Given the description of an element on the screen output the (x, y) to click on. 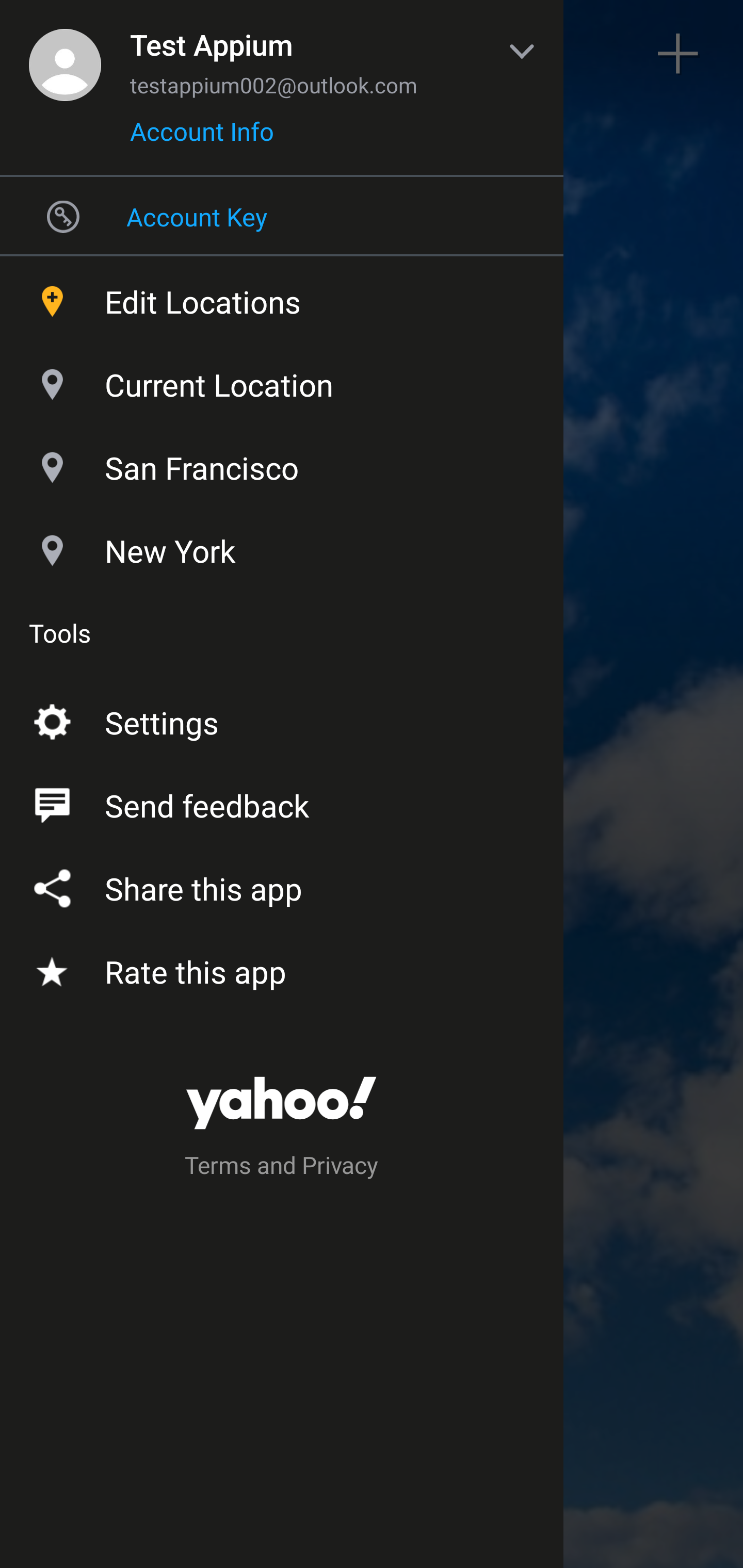
Sidebar (64, 54)
Account Info (202, 137)
Account Key (281, 216)
Edit Locations (281, 296)
Current Location (281, 379)
San Francisco (281, 462)
New York (281, 546)
Settings (281, 718)
Send feedback (281, 801)
Share this app (281, 884)
Terms and Privacy Terms and privacy button (281, 1168)
